Given the description of an element on the screen output the (x, y) to click on. 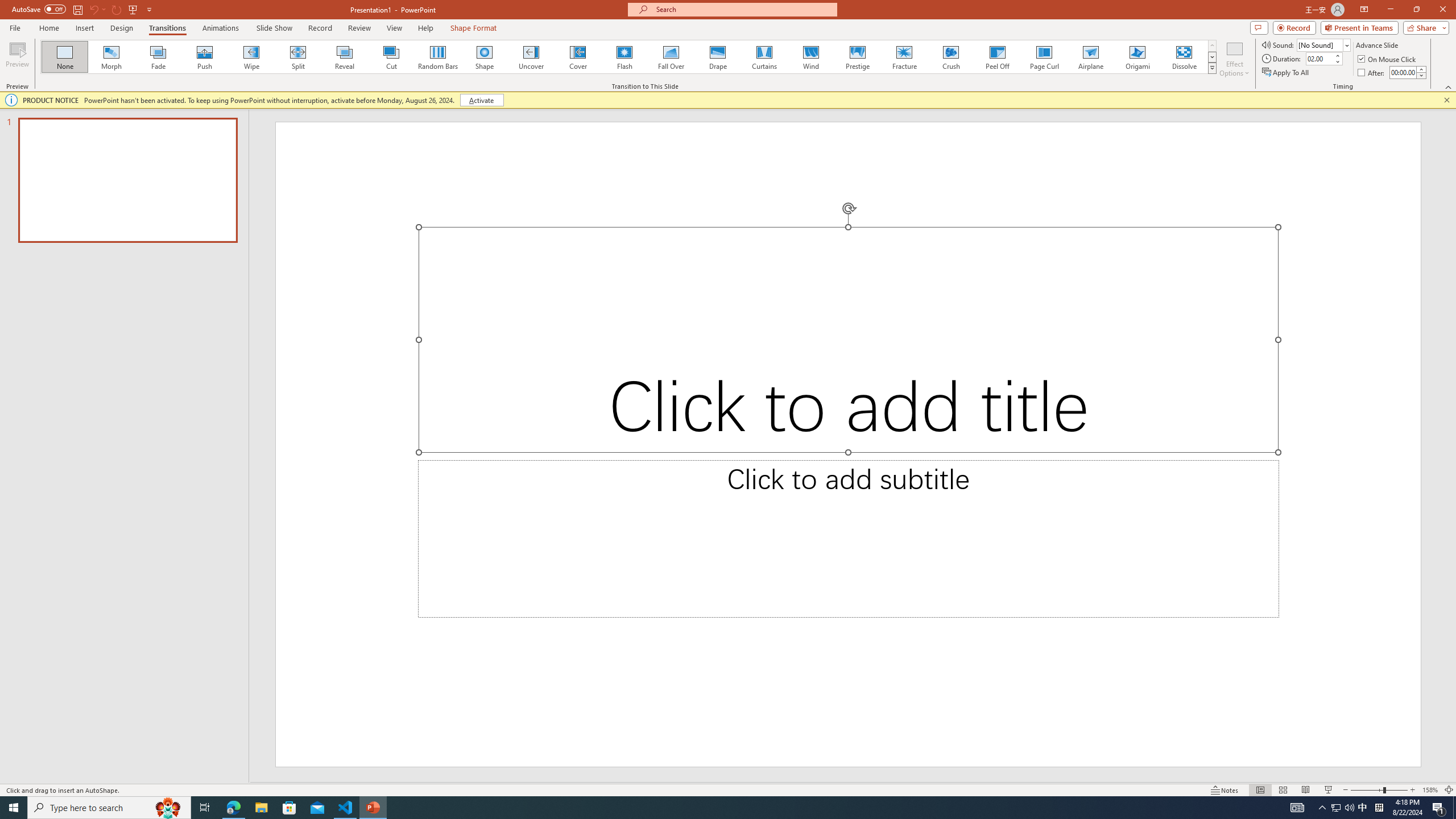
Peel Off (997, 56)
Duration (1319, 58)
Fall Over (670, 56)
Cut (391, 56)
Split (298, 56)
Less (1420, 75)
Flash (624, 56)
